Given the description of an element on the screen output the (x, y) to click on. 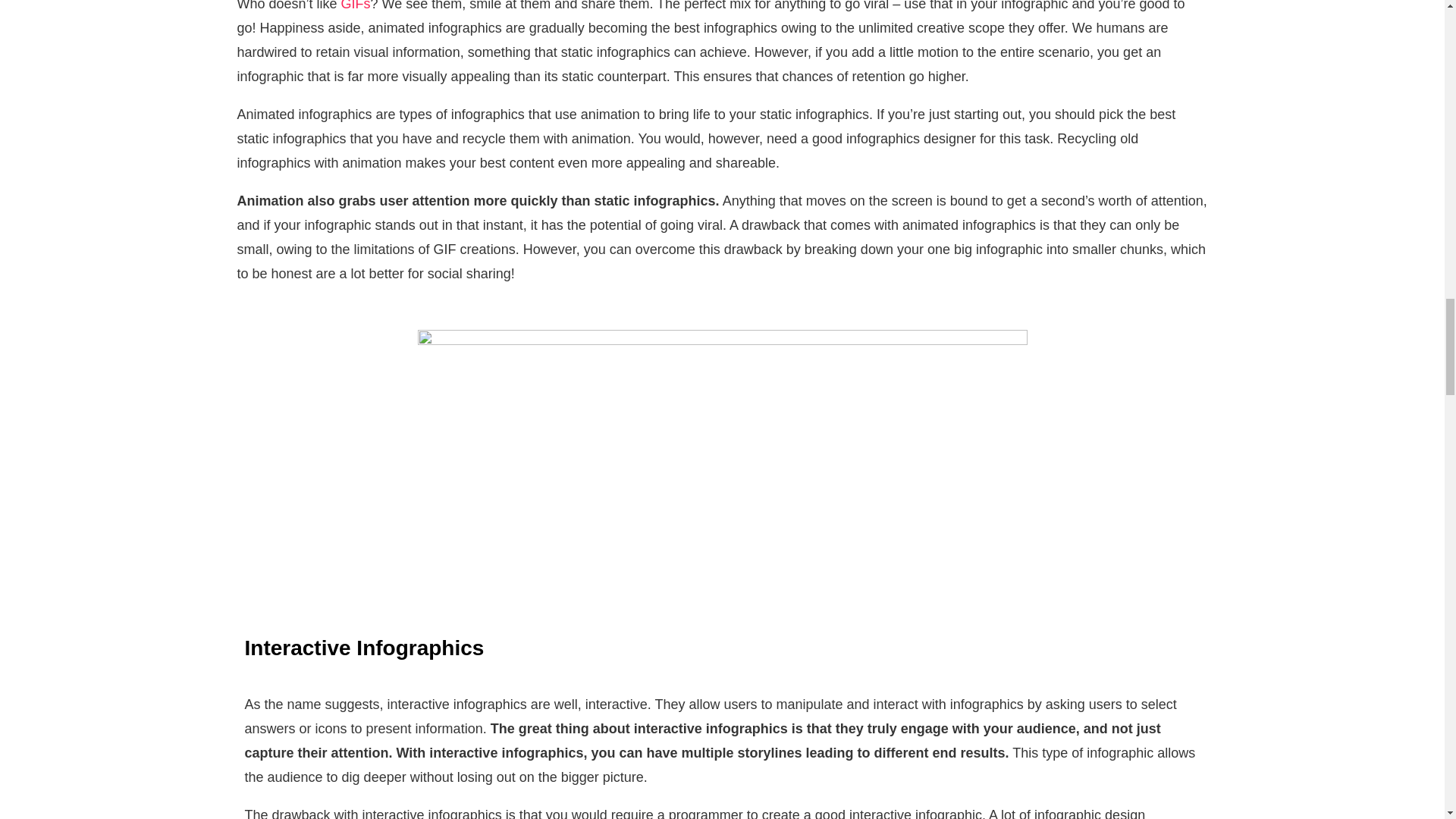
 GIFs (354, 5)
